Given the description of an element on the screen output the (x, y) to click on. 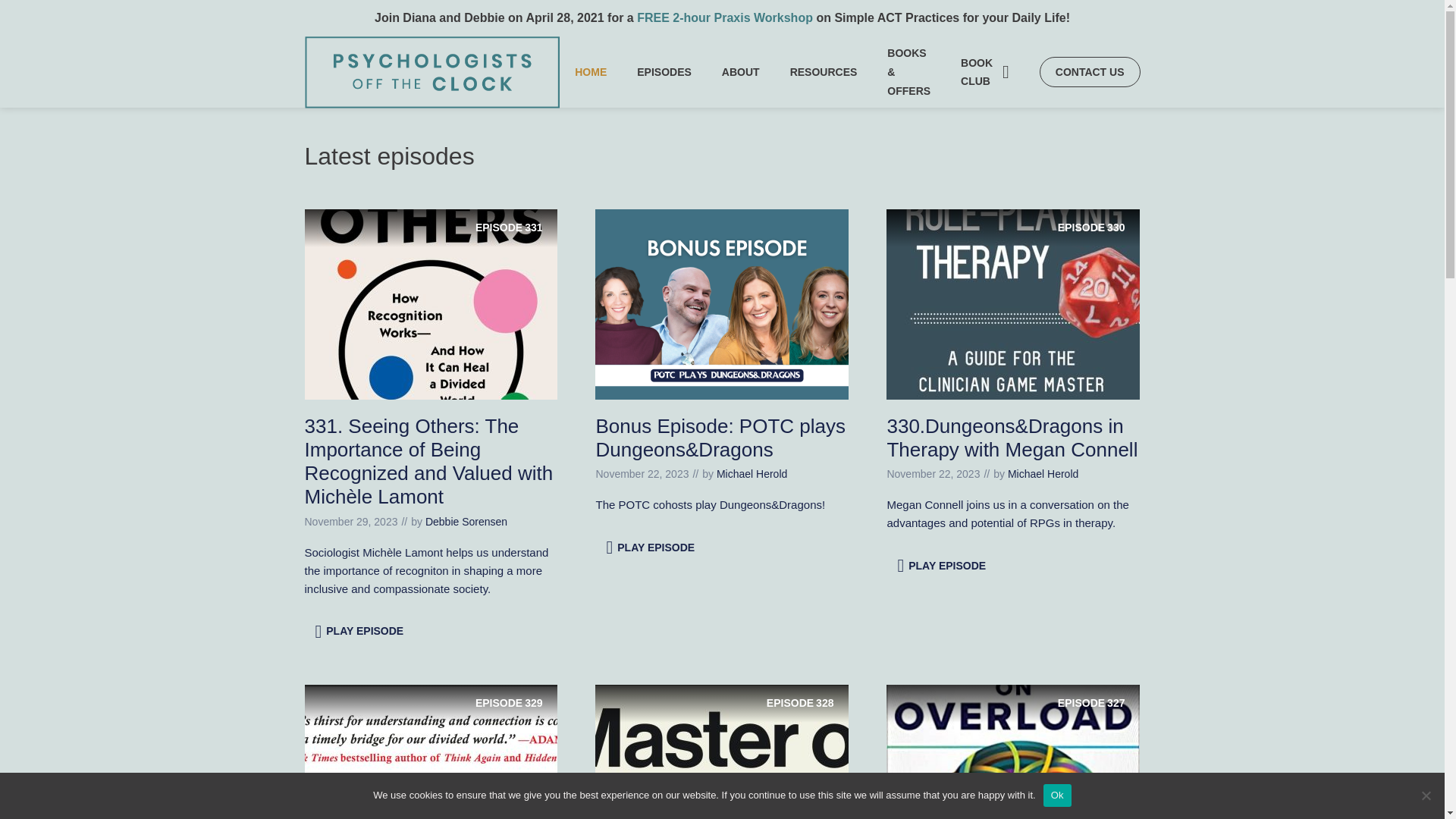
No (1425, 795)
EPISODES (1013, 303)
Debbie Sorensen (430, 303)
CONTACT US (664, 71)
Michael Herold (465, 521)
Michael Herold (1089, 71)
